Given the description of an element on the screen output the (x, y) to click on. 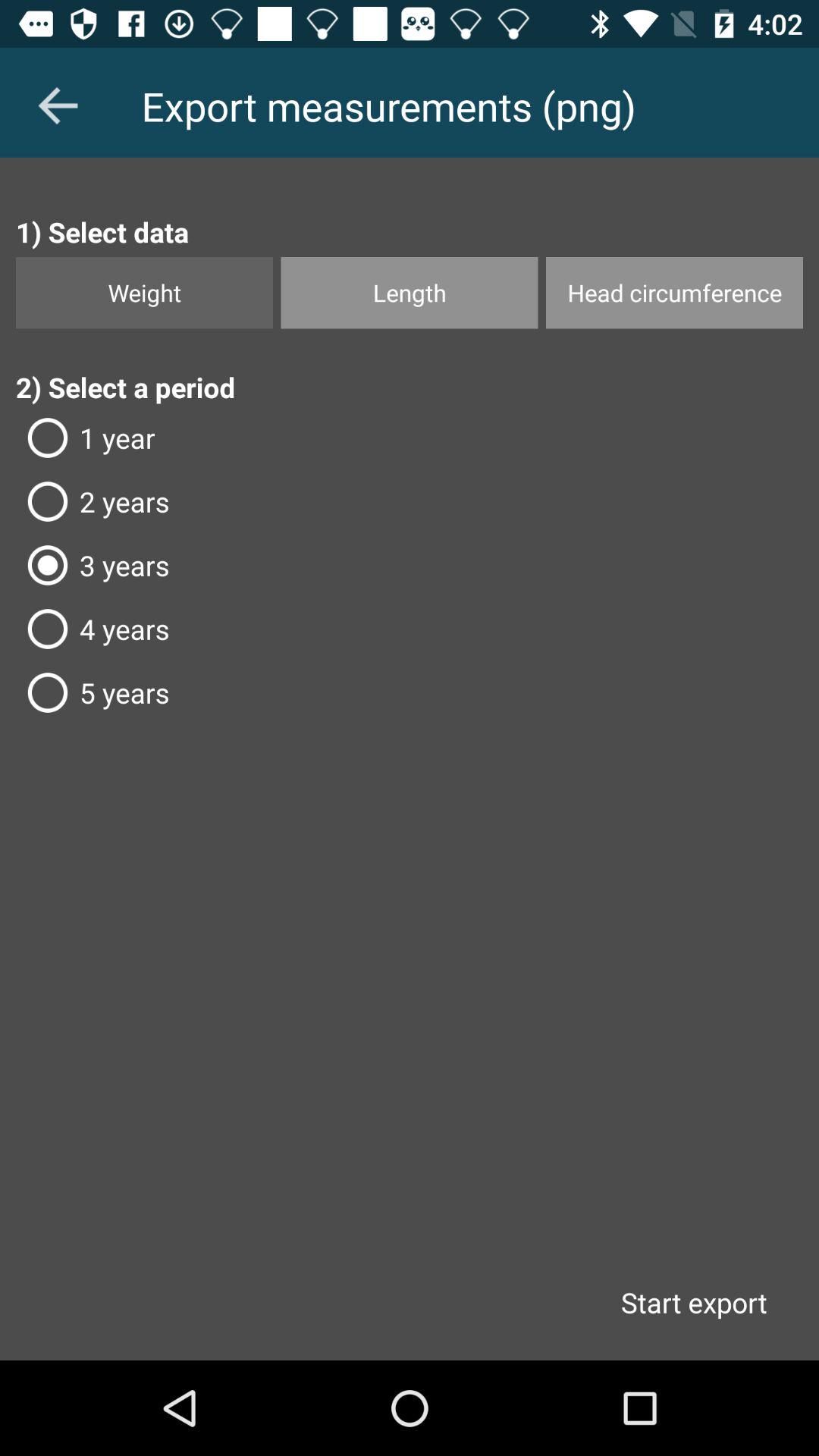
flip to the length item (409, 292)
